Given the description of an element on the screen output the (x, y) to click on. 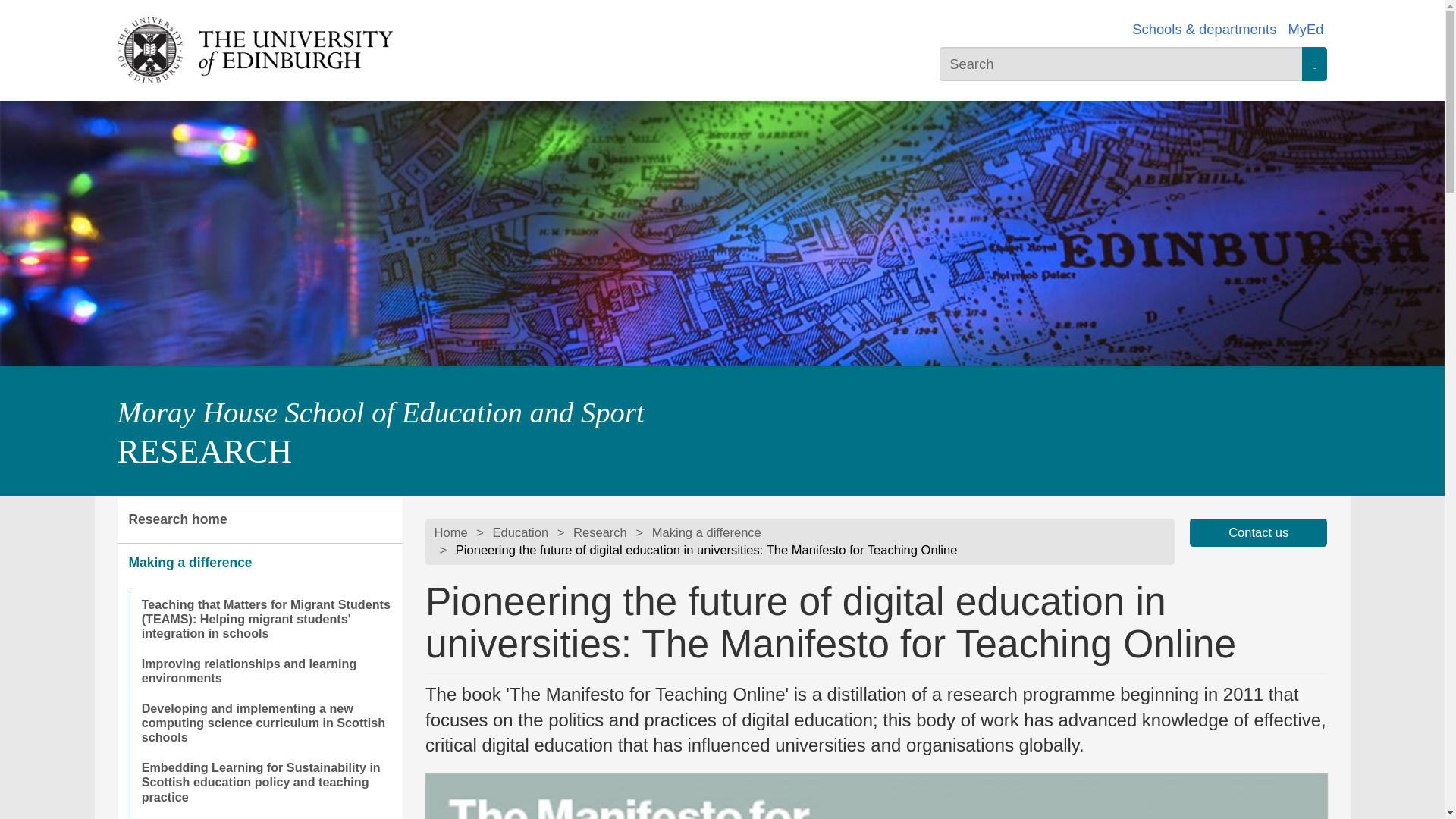
Making a difference (259, 562)
MyEd (1305, 28)
Research home (259, 519)
RESEARCH (204, 451)
Improving relationships and learning environments (266, 671)
Moray House School of Education and Sport (379, 412)
